Given the description of an element on the screen output the (x, y) to click on. 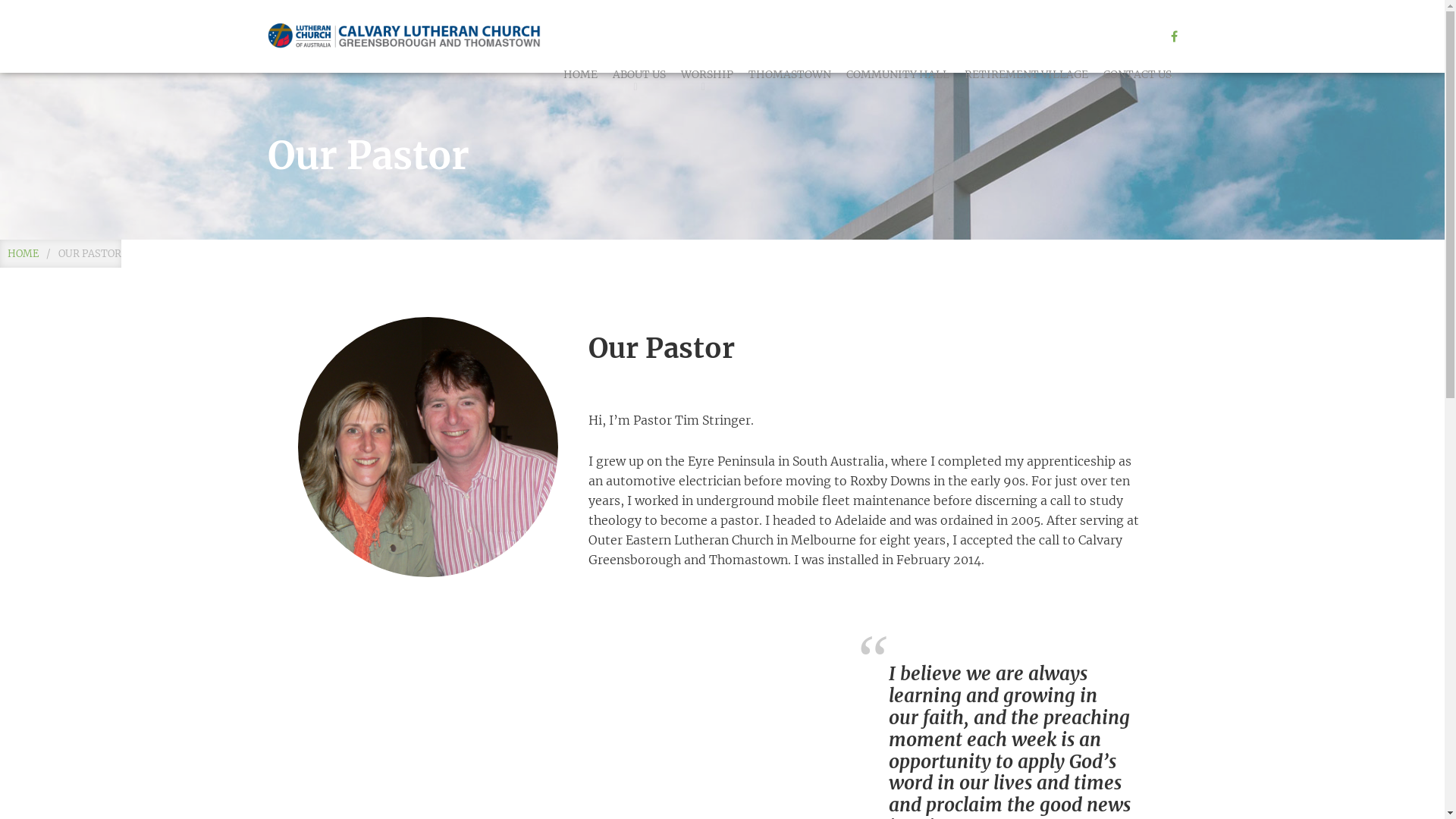
RETIREMENT VILLAGE Element type: text (1026, 74)
ABOUT US Element type: text (638, 74)
HOME Element type: text (22, 253)
Skip to main content Element type: text (0, 0)
Christmas photos. Element type: hover (427, 446)
HOME Element type: text (579, 74)
GREENSBOROUGH CALVARY CONGREGATION, VIC Element type: text (402, 36)
WORSHIP Element type: text (706, 74)
CONTACT US Element type: text (1136, 74)
THOMASTOWN Element type: text (788, 74)
COMMUNITY HALL Element type: text (897, 74)
